Given the description of an element on the screen output the (x, y) to click on. 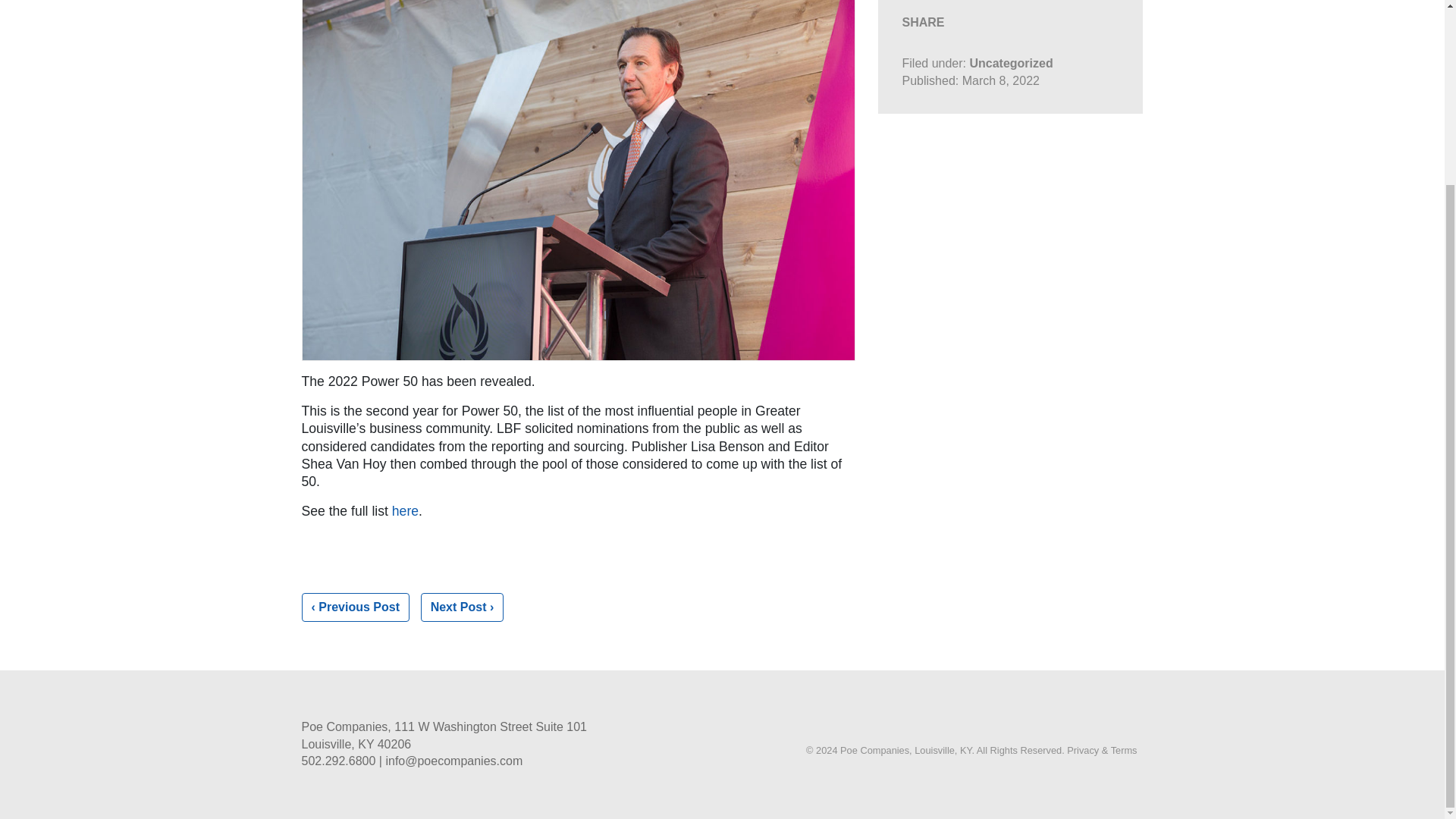
here (405, 510)
502.292.6800 (338, 760)
Uncategorized (1010, 62)
